Given the description of an element on the screen output the (x, y) to click on. 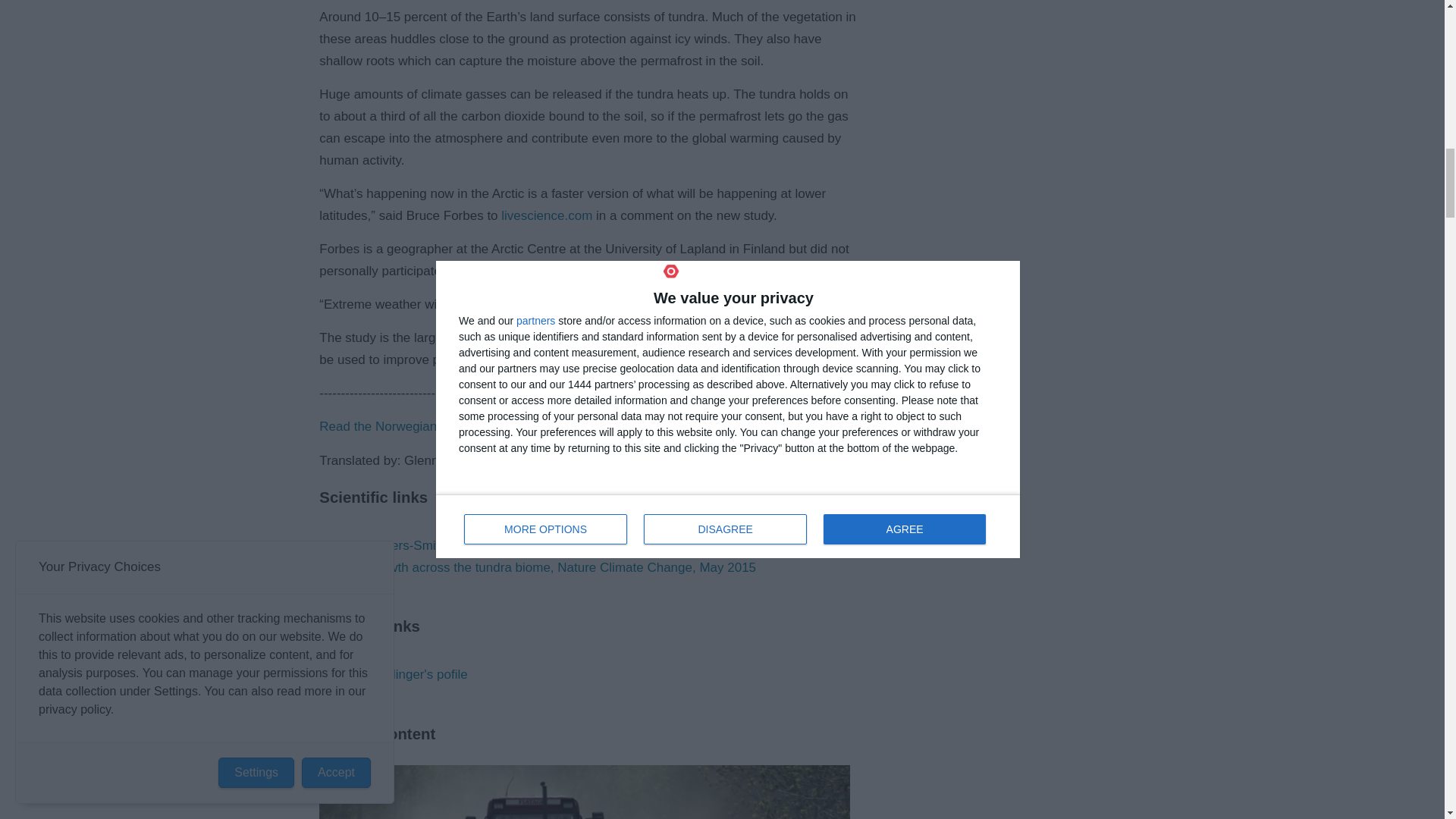
Few global warming doubters among Norwegian farmers (584, 791)
